Given the description of an element on the screen output the (x, y) to click on. 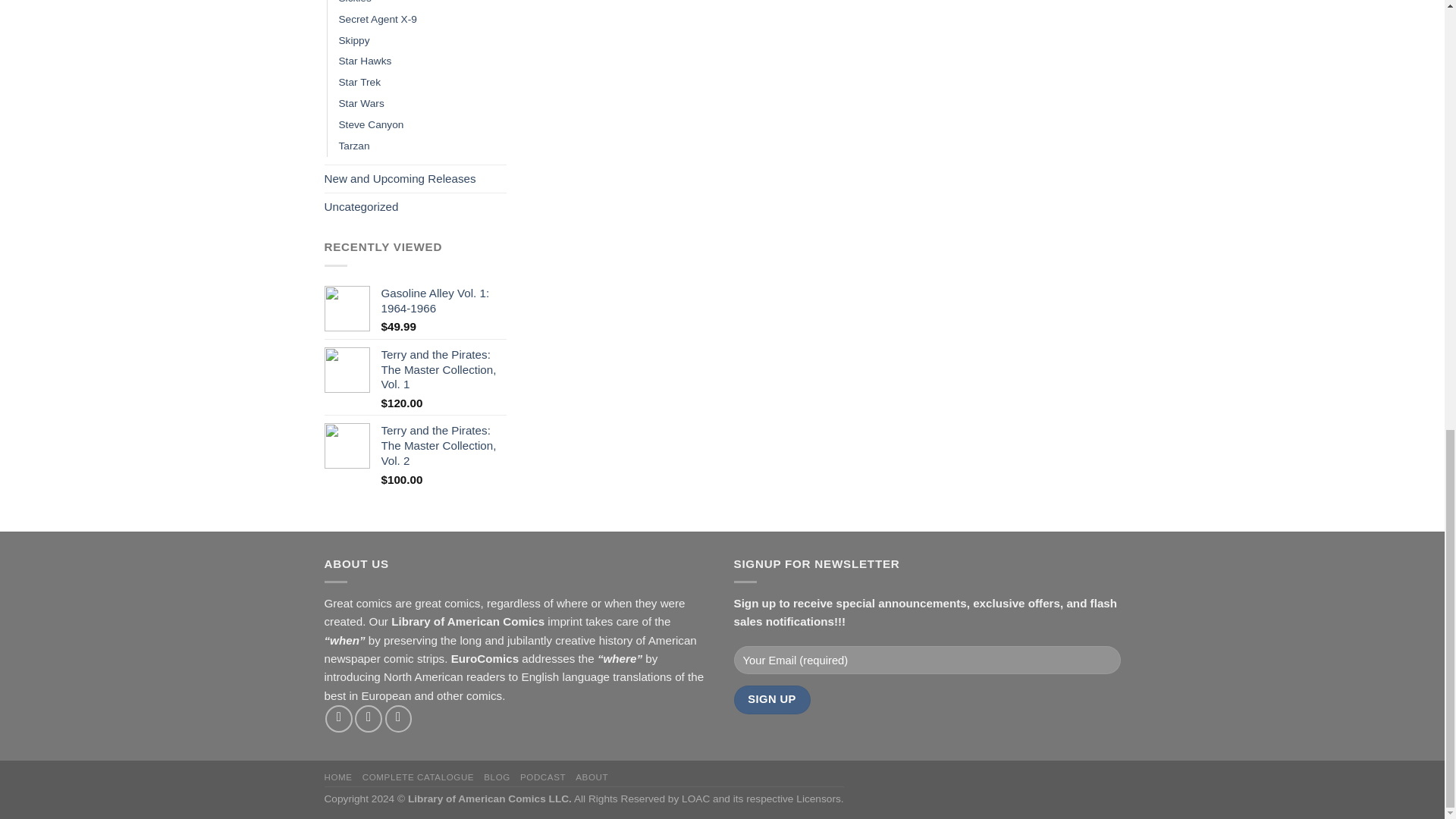
Follow on Twitter (398, 718)
Follow on Facebook (338, 718)
Follow on Instagram (368, 718)
Sign Up (771, 699)
